Given the description of an element on the screen output the (x, y) to click on. 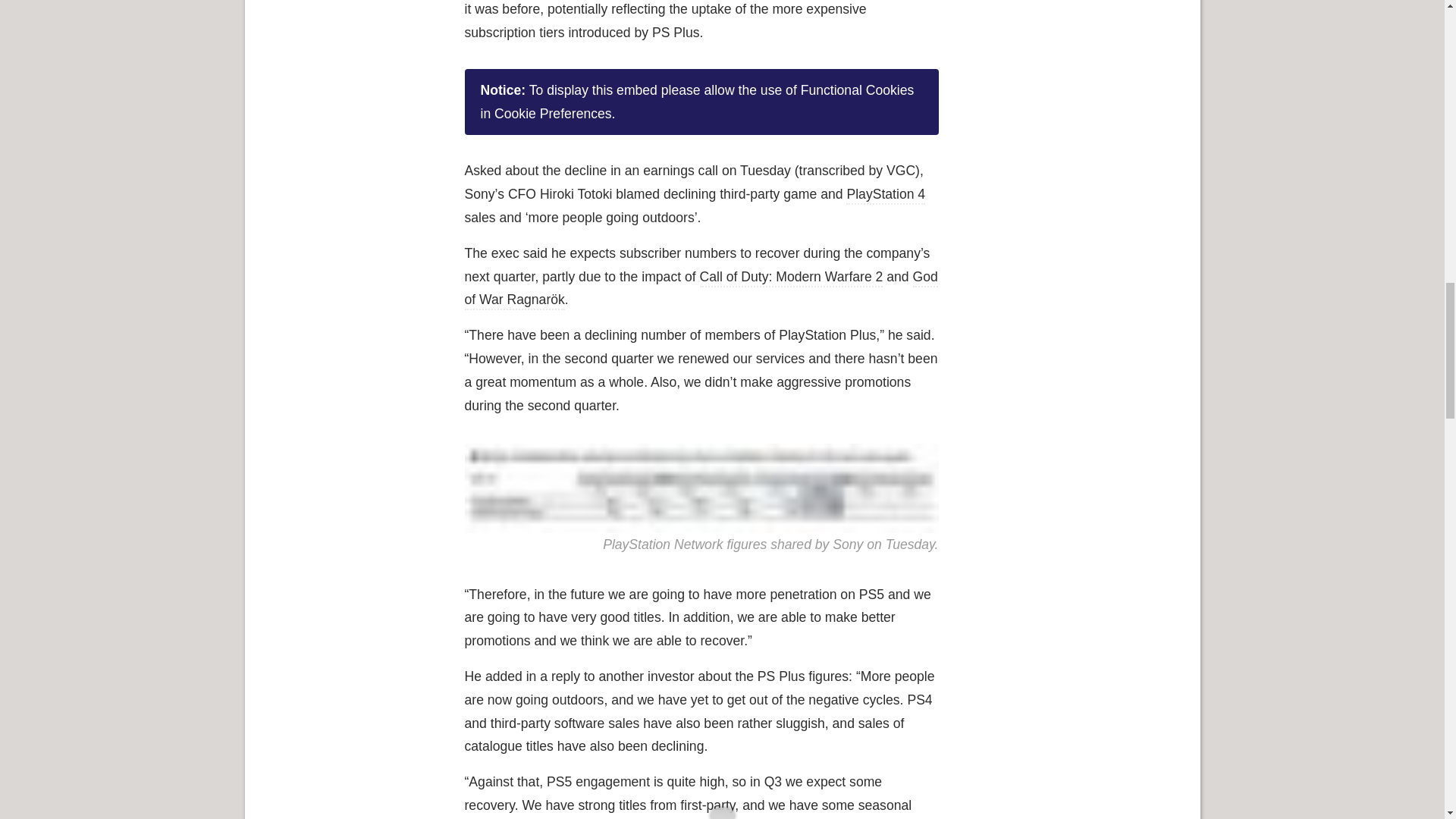
Call of Duty: Modern Warfare 2 (791, 278)
PlayStation 4 (884, 195)
Cookie Preferences (553, 113)
